Given the description of an element on the screen output the (x, y) to click on. 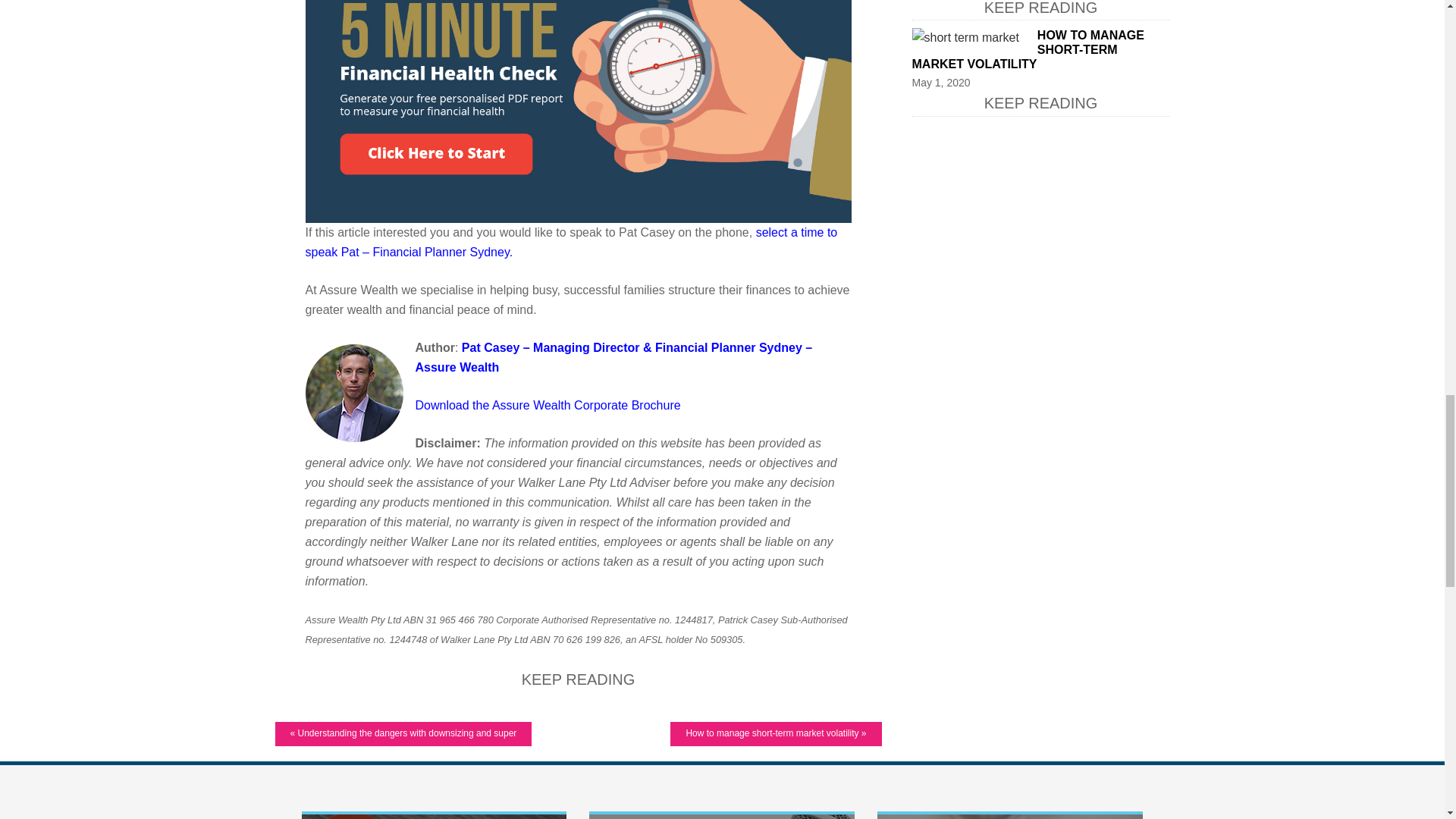
HOW TO MANAGE SHORT-TERM MARKET VOLATILITY (1026, 49)
Download the Assure Wealth Corporate Brochure (547, 404)
